Given the description of an element on the screen output the (x, y) to click on. 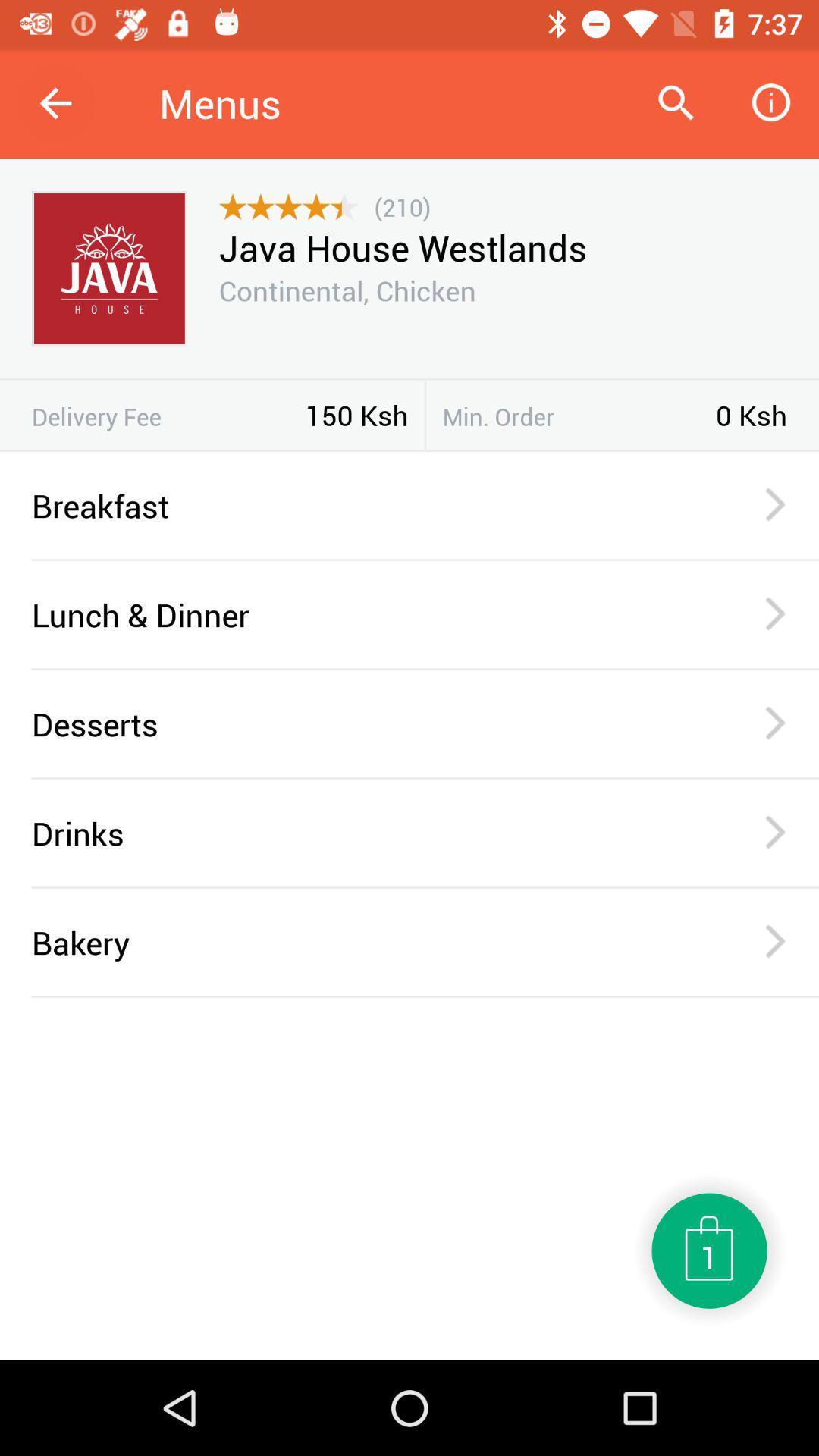
jump to 0 ksh item (751, 414)
